Given the description of an element on the screen output the (x, y) to click on. 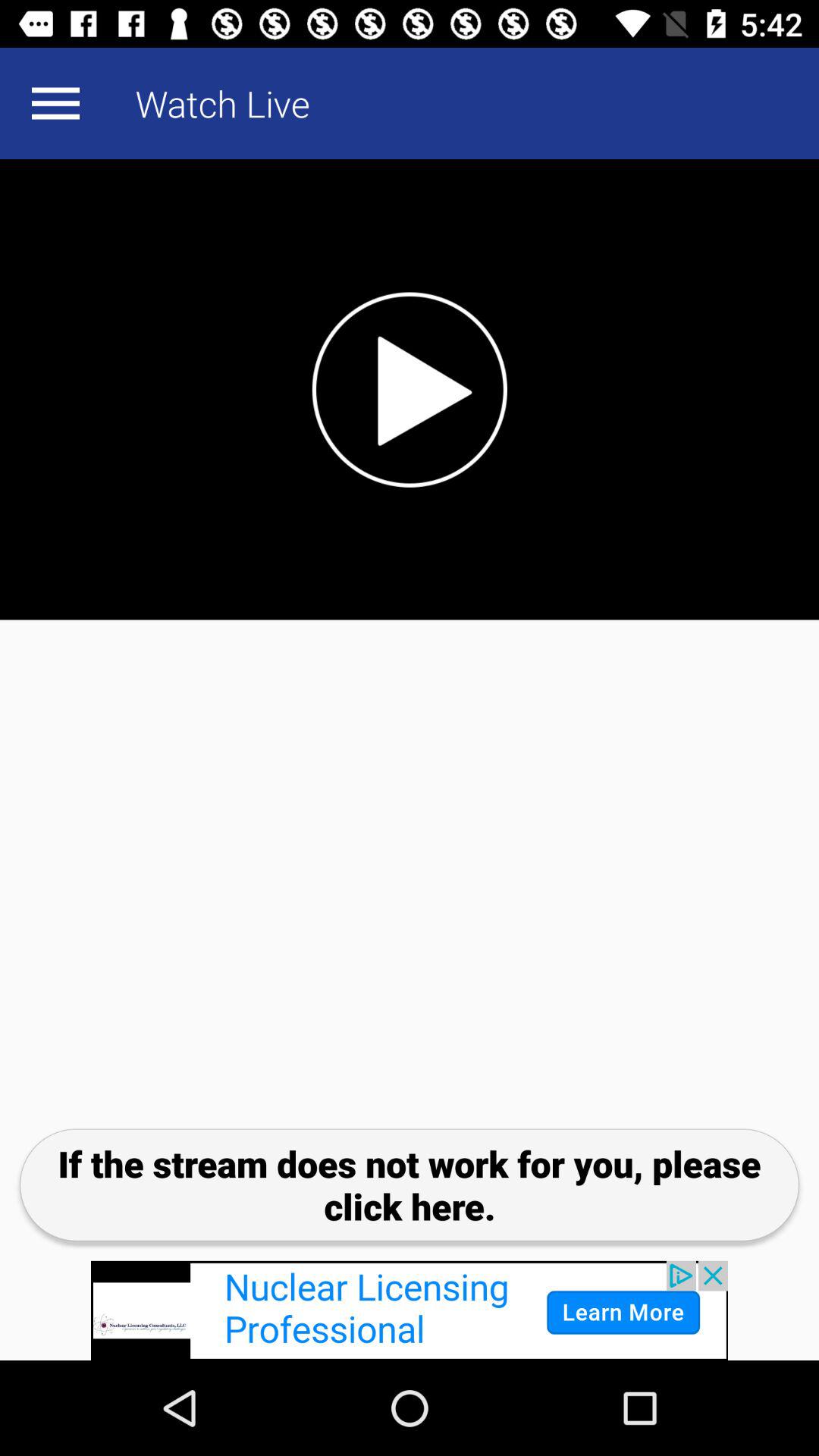
play button (409, 389)
